Given the description of an element on the screen output the (x, y) to click on. 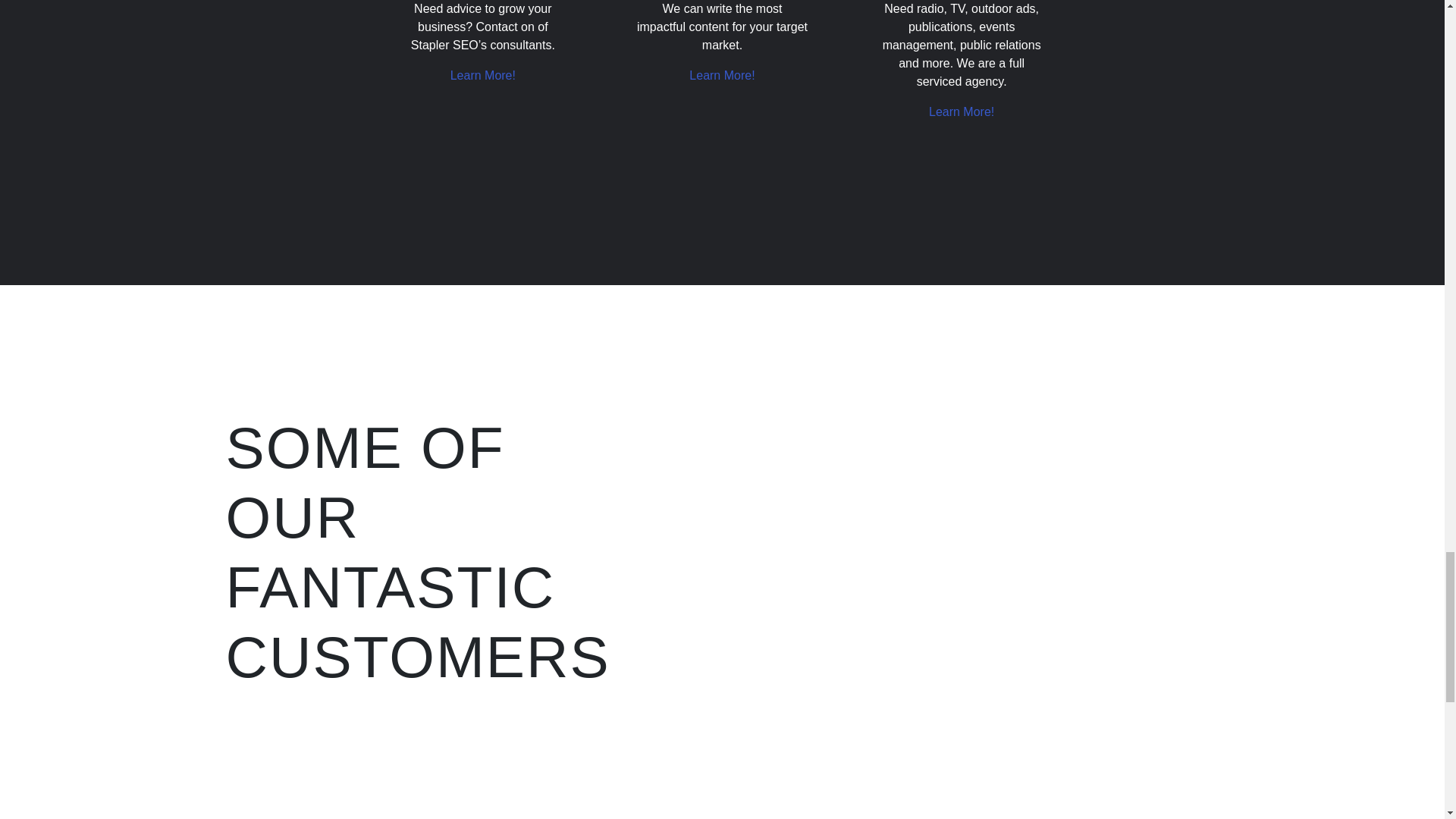
Learn More! (721, 74)
Learn More! (482, 74)
